Given the description of an element on the screen output the (x, y) to click on. 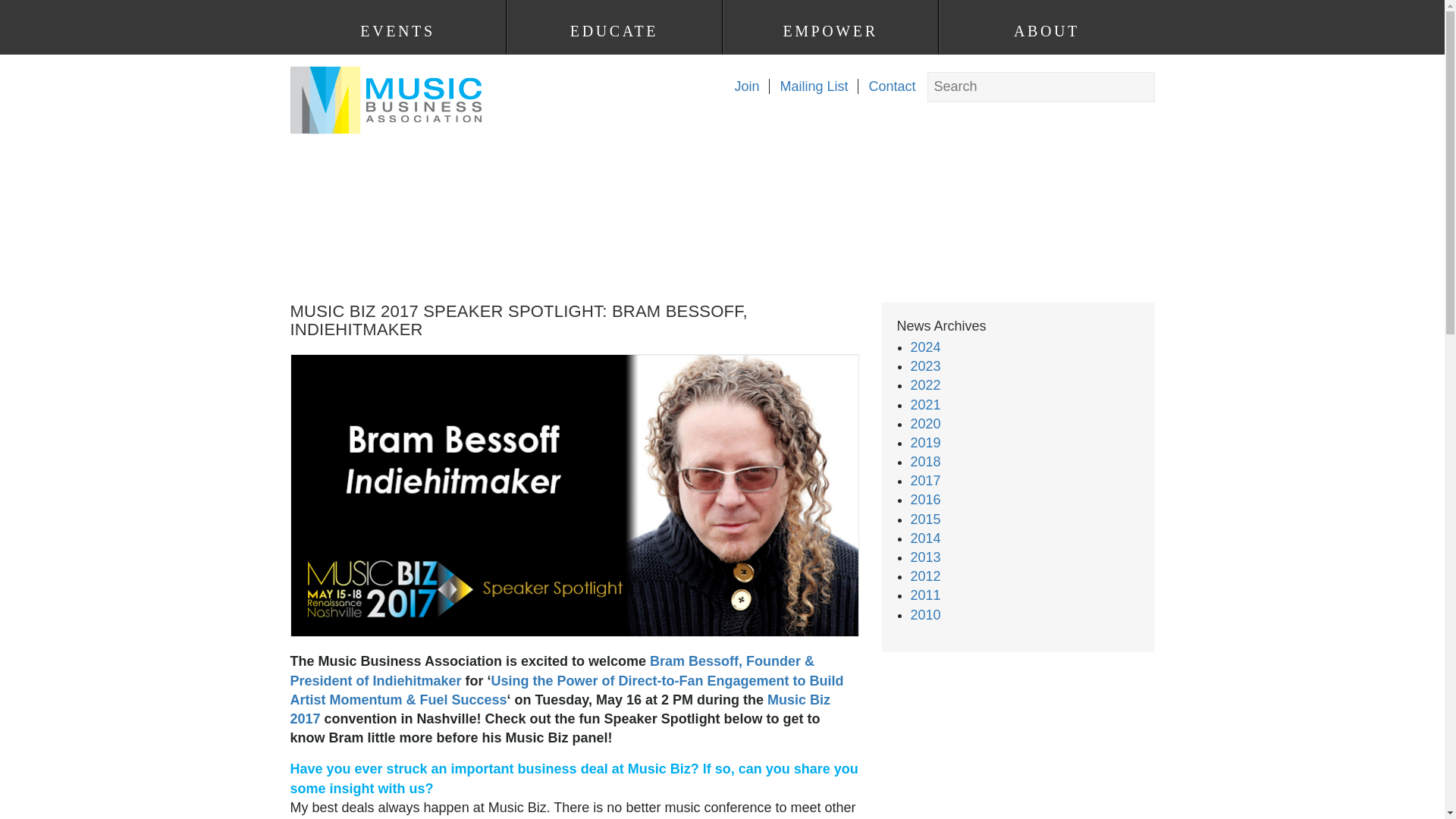
Join (740, 86)
EDUCATE (613, 31)
Mailing List (807, 86)
Contact (886, 86)
ABOUT (1046, 31)
Search (27, 10)
EMPOWER (830, 31)
EVENTS (397, 31)
